Given the description of an element on the screen output the (x, y) to click on. 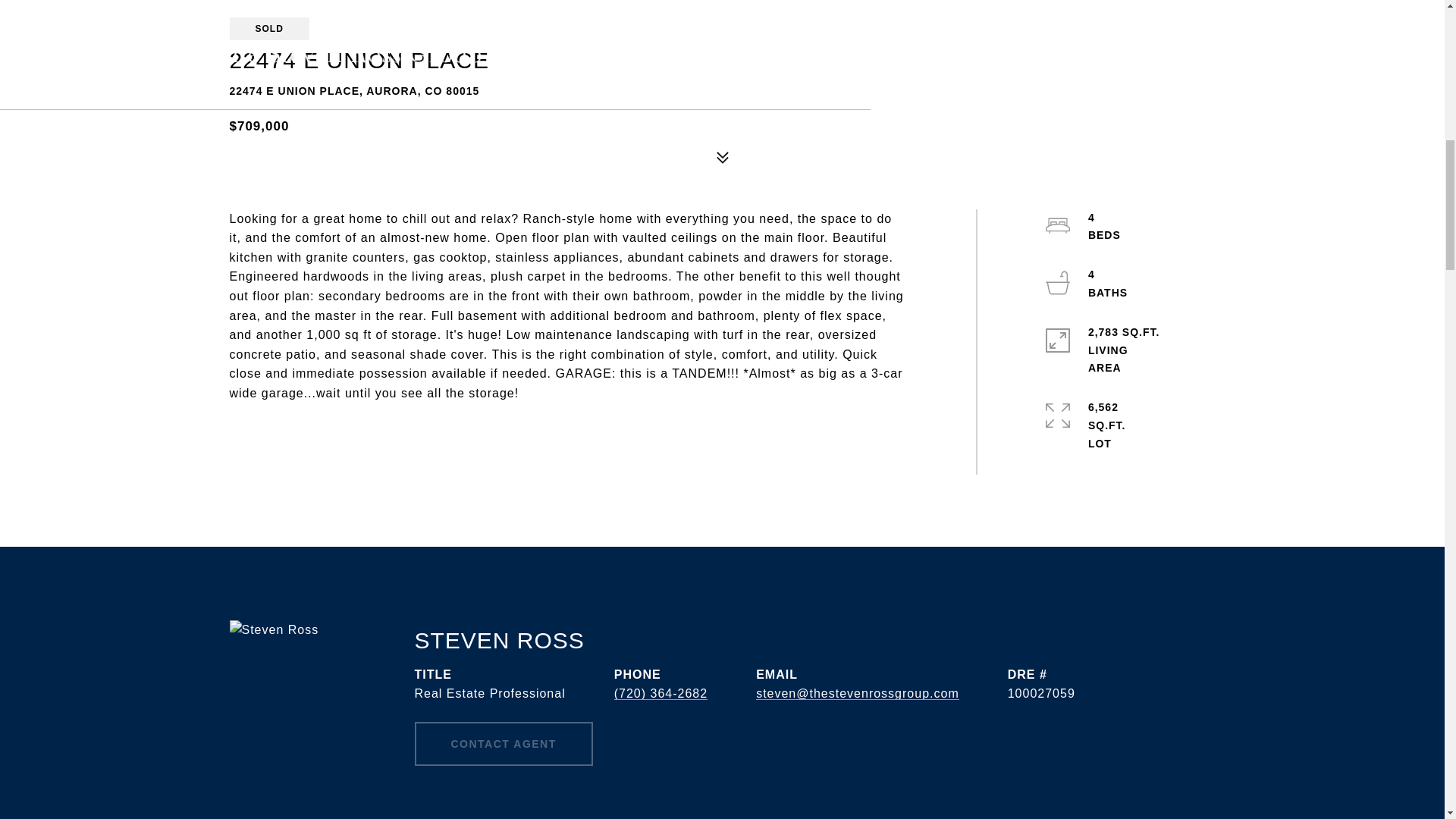
CONTACT AGENT (502, 743)
